Given the description of an element on the screen output the (x, y) to click on. 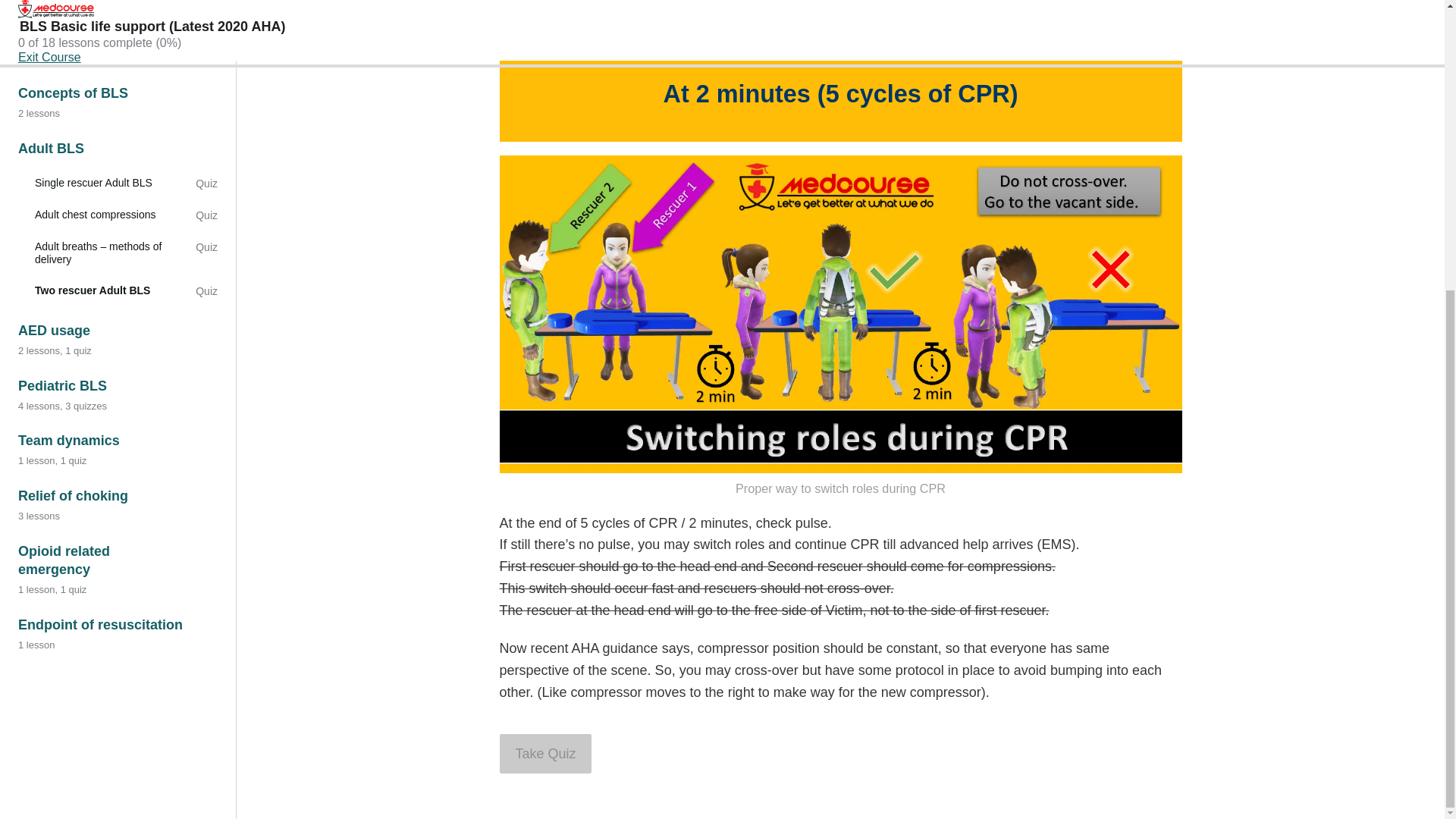
Endpoint of resuscitation (116, 184)
Team dynamics (116, 4)
Relief of choking (116, 54)
Opioid related emergency (116, 119)
